Given the description of an element on the screen output the (x, y) to click on. 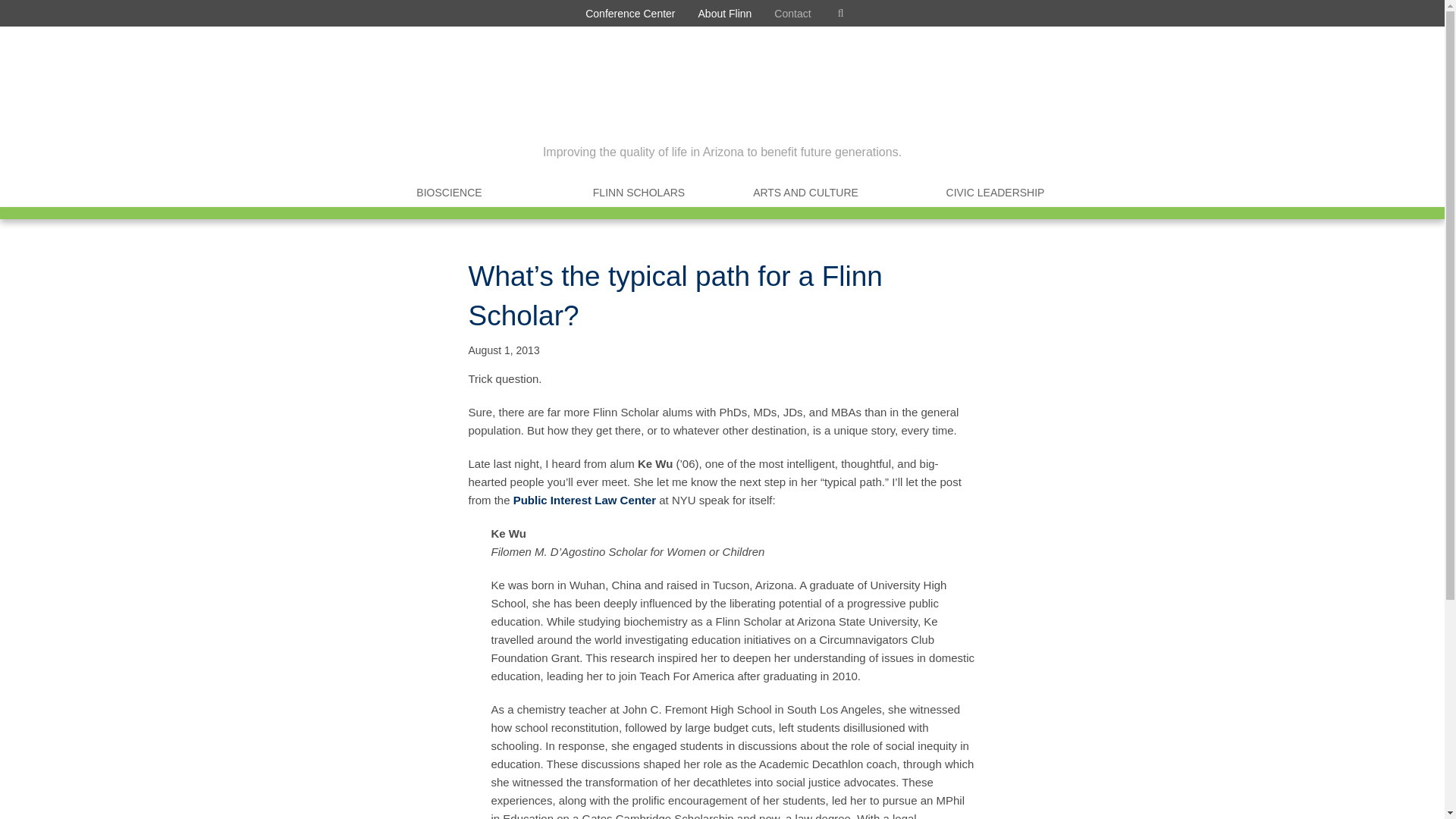
BIOSCIENCE (448, 192)
Contact (792, 13)
About Flinn (724, 13)
Conference Center (629, 13)
